Given the description of an element on the screen output the (x, y) to click on. 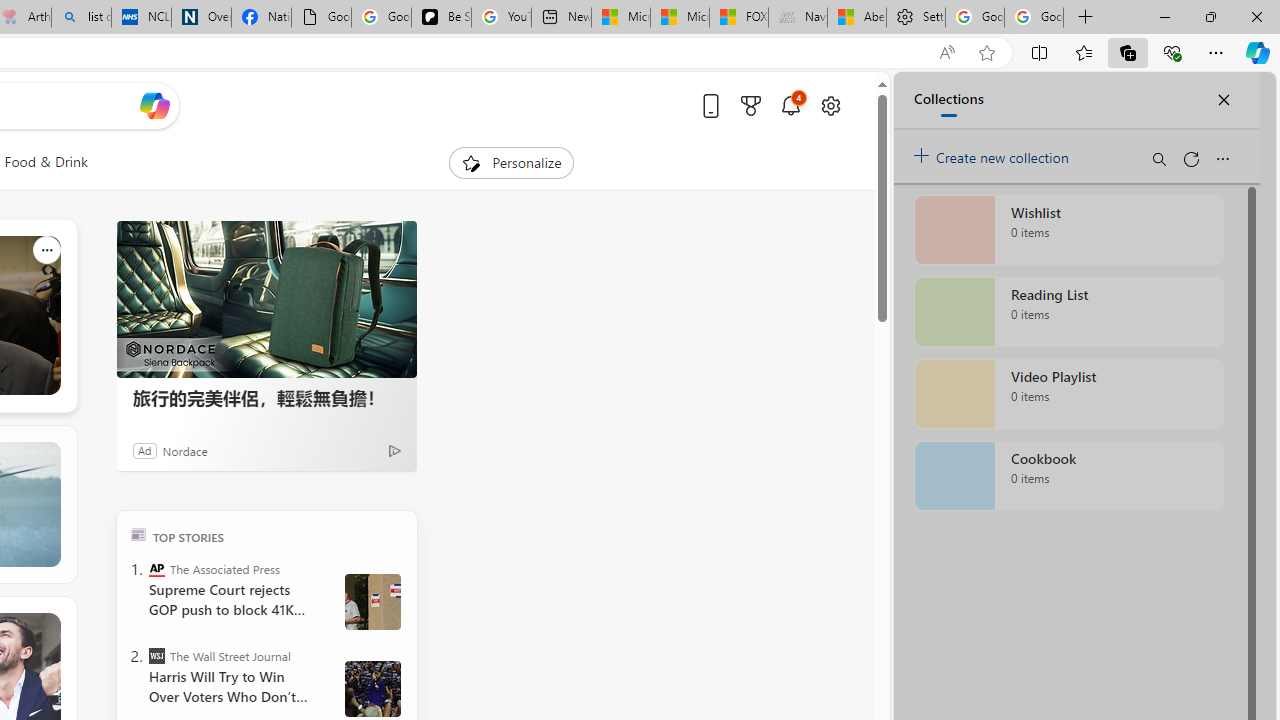
TOP (138, 534)
Google Analytics Opt-out Browser Add-on Download Page (320, 17)
